Given the description of an element on the screen output the (x, y) to click on. 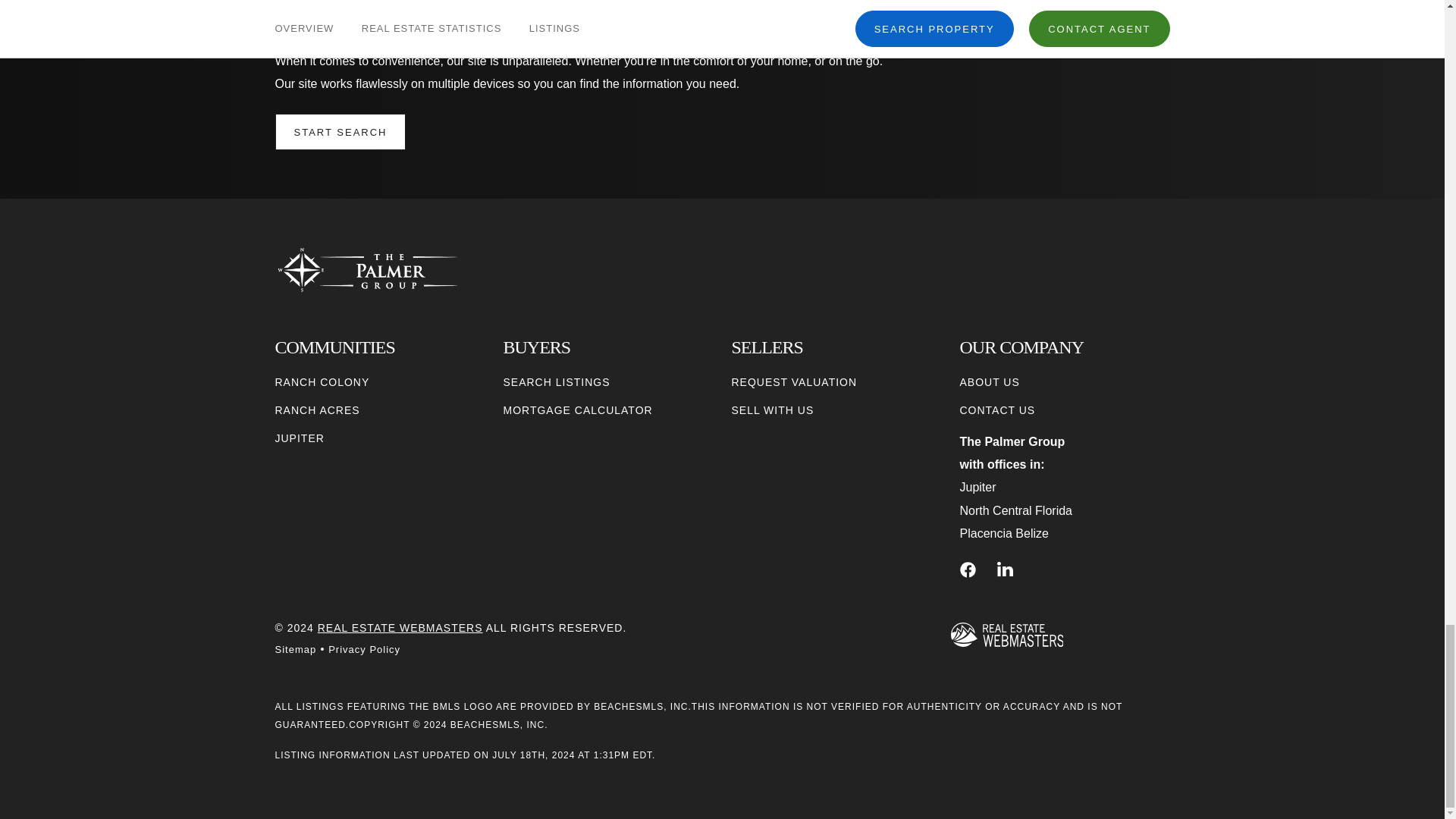
FACEBOOK (967, 569)
LINKEDIN (1005, 569)
